Given the description of an element on the screen output the (x, y) to click on. 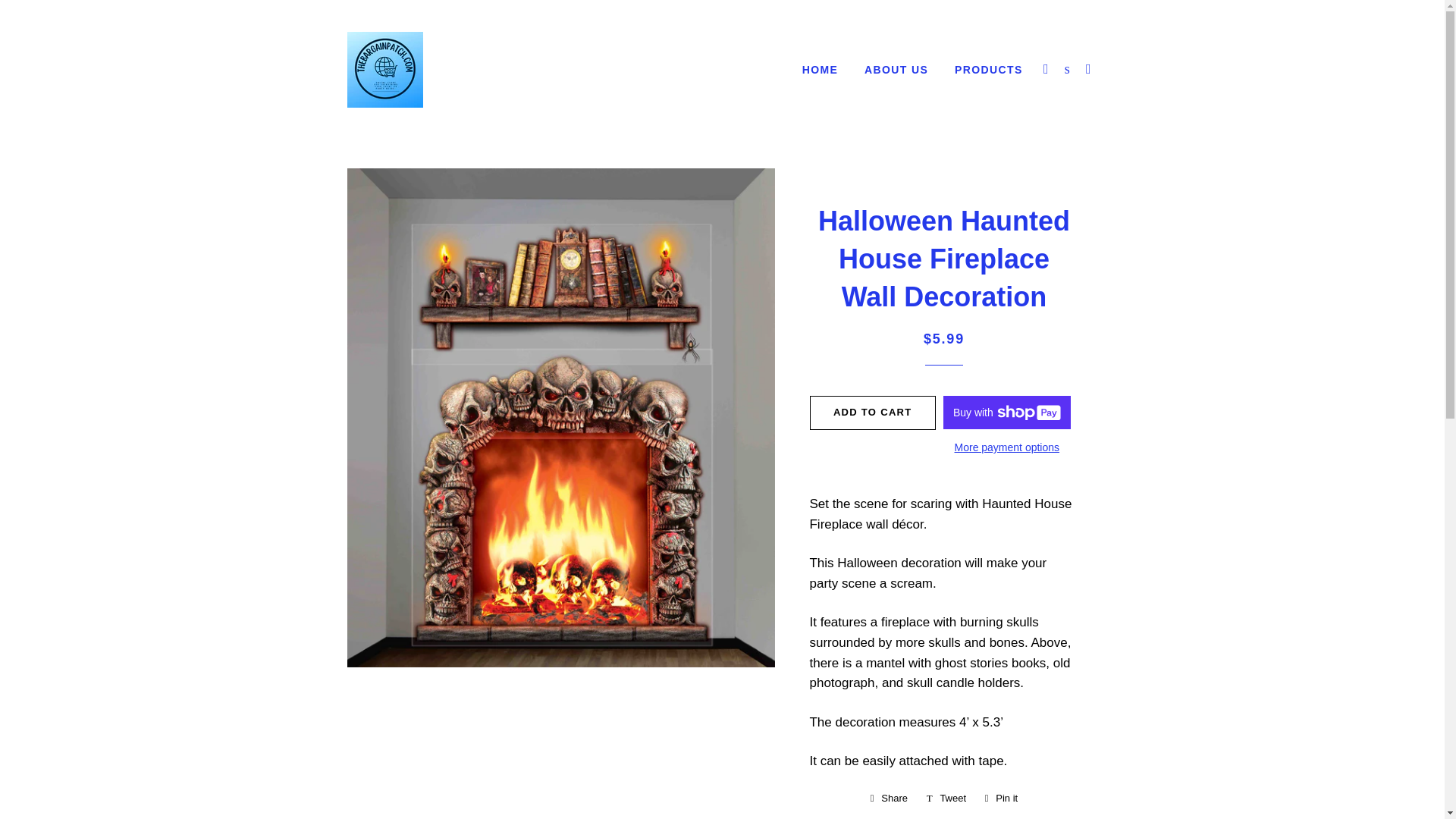
Tweet on Twitter (946, 798)
Share on Facebook (946, 798)
More payment options (889, 798)
ABOUT US (1000, 798)
Pin on Pinterest (1007, 447)
PRODUCTS (896, 70)
HOME (1000, 798)
ADD TO CART (988, 70)
